Given the description of an element on the screen output the (x, y) to click on. 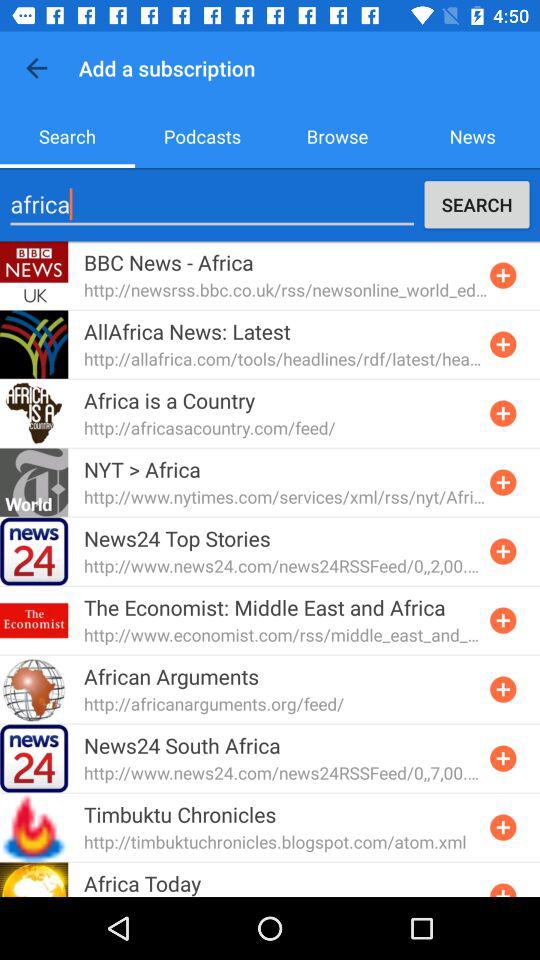
select icon above http africasacountry com item (169, 400)
